Given the description of an element on the screen output the (x, y) to click on. 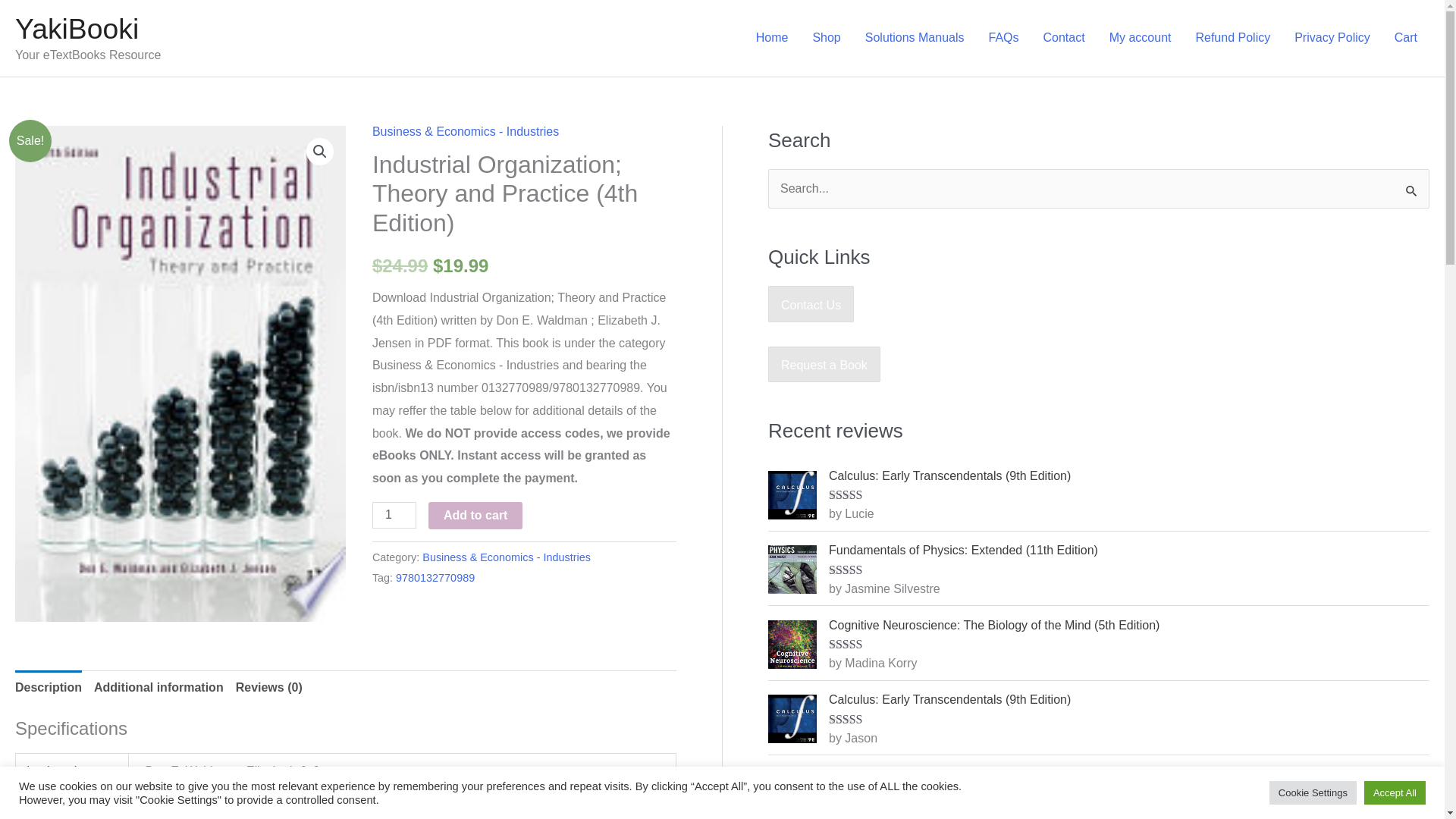
1 (394, 515)
9780132770989 (435, 577)
Privacy Policy (1331, 37)
FAQs (1003, 37)
Refund Policy (1232, 37)
My account (1140, 37)
Add to cart (475, 515)
Home (772, 37)
YakiBooki (76, 29)
Contact (1063, 37)
Shop (825, 37)
Solutions Manuals (914, 37)
